Given the description of an element on the screen output the (x, y) to click on. 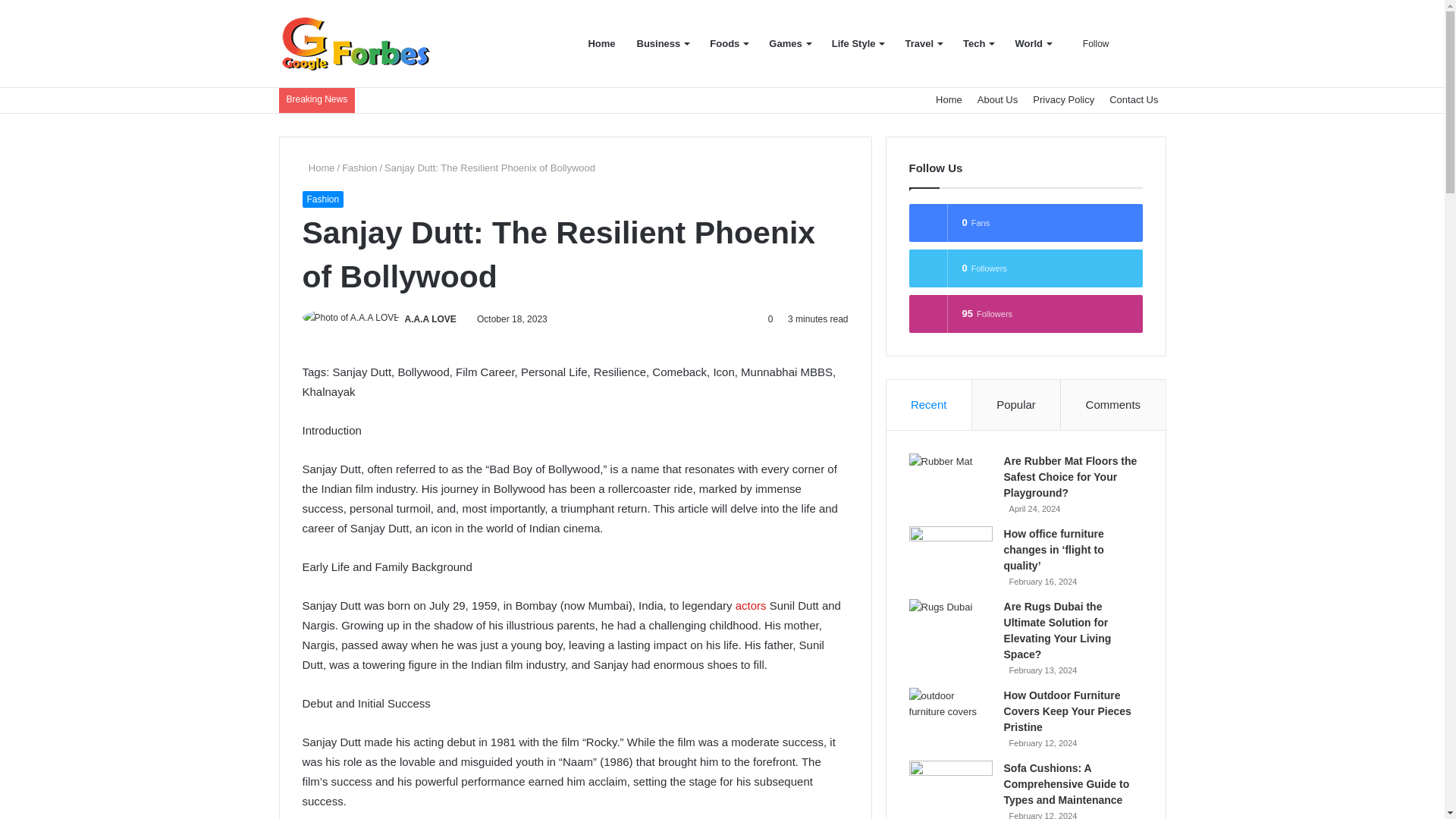
actors (751, 604)
Privacy Policy (1063, 99)
Home (317, 167)
A.A.A LOVE (430, 318)
Fashion (322, 199)
Fashion (359, 167)
A.A.A LOVE (430, 318)
Contact Us (1134, 99)
About Us (997, 99)
Home (948, 99)
